Given the description of an element on the screen output the (x, y) to click on. 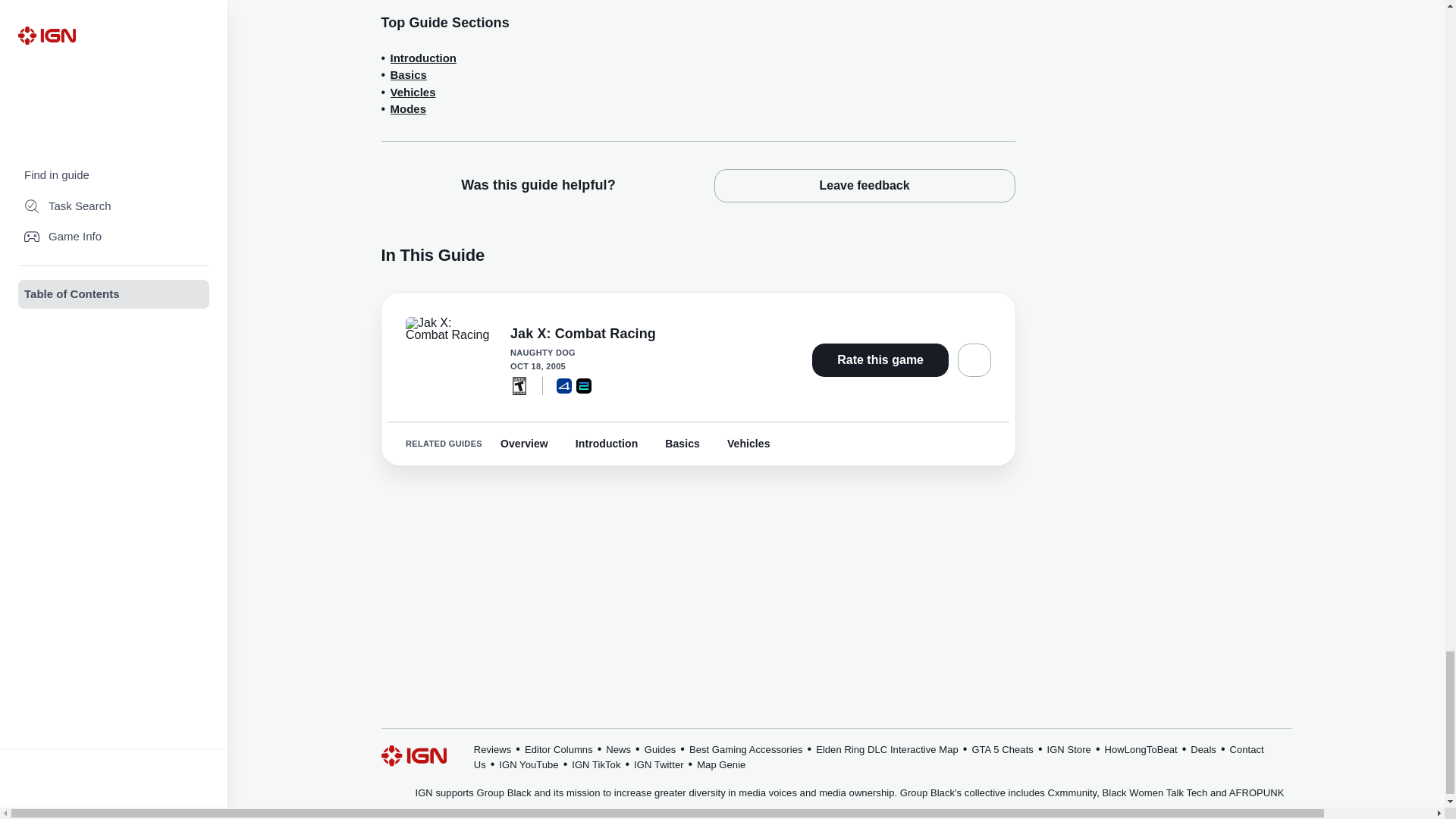
ESRB: Teen (518, 385)
PlayStation 2 (583, 385)
PlayStation 4 (564, 385)
